Given the description of an element on the screen output the (x, y) to click on. 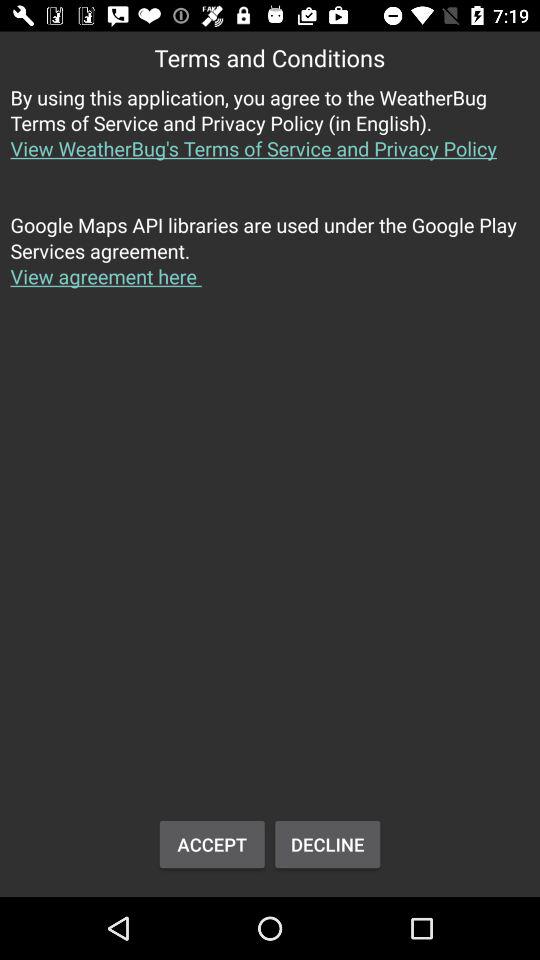
tap item below google maps api icon (327, 844)
